Given the description of an element on the screen output the (x, y) to click on. 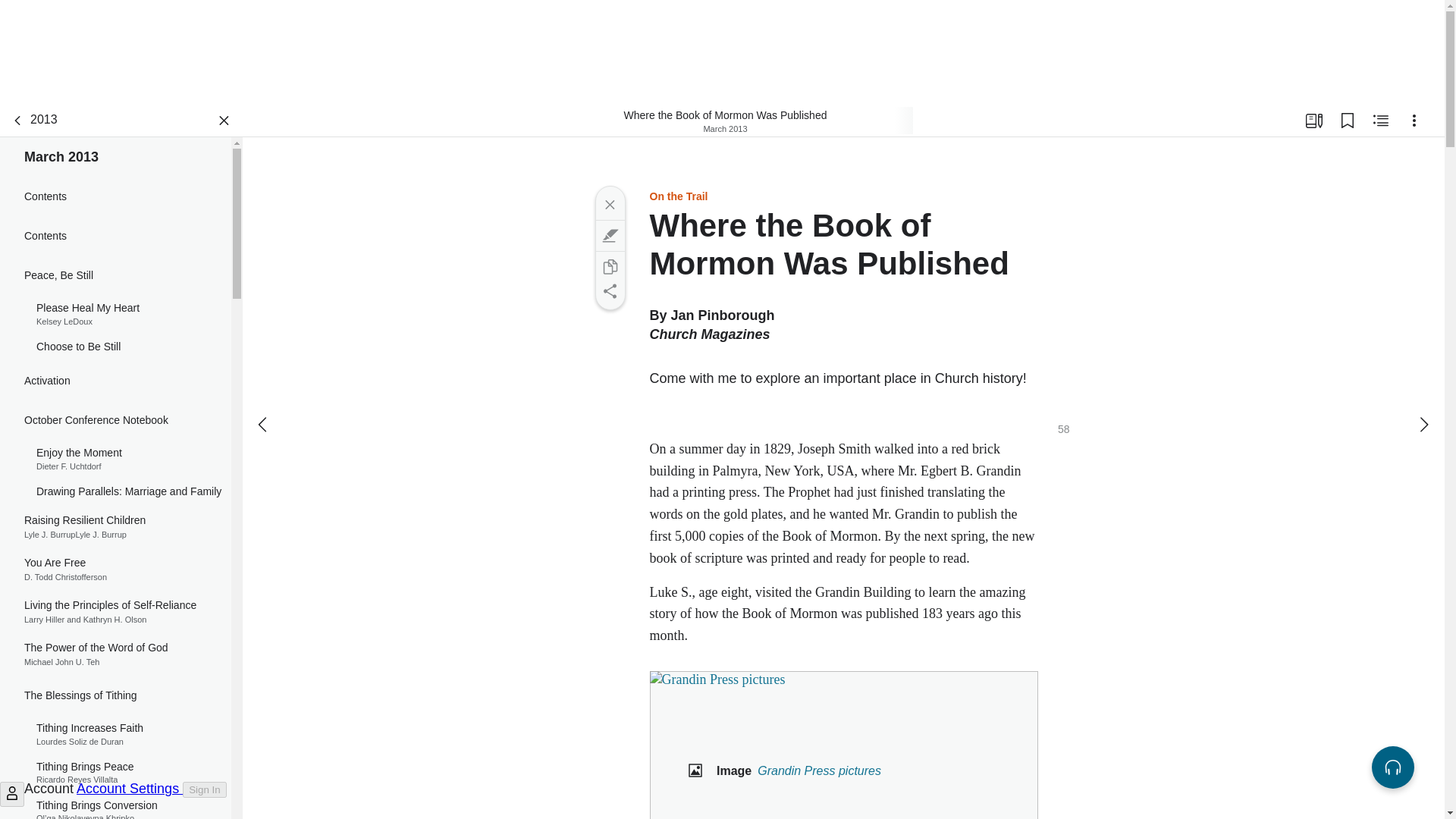
Bookmarks (1347, 120)
Drawing Parallels: Marriage and Family (115, 492)
Choose to Be Still (115, 347)
Close (608, 204)
Mark (608, 235)
Grandin Press pictures (842, 744)
Related Content (115, 568)
Options (115, 733)
